Given the description of an element on the screen output the (x, y) to click on. 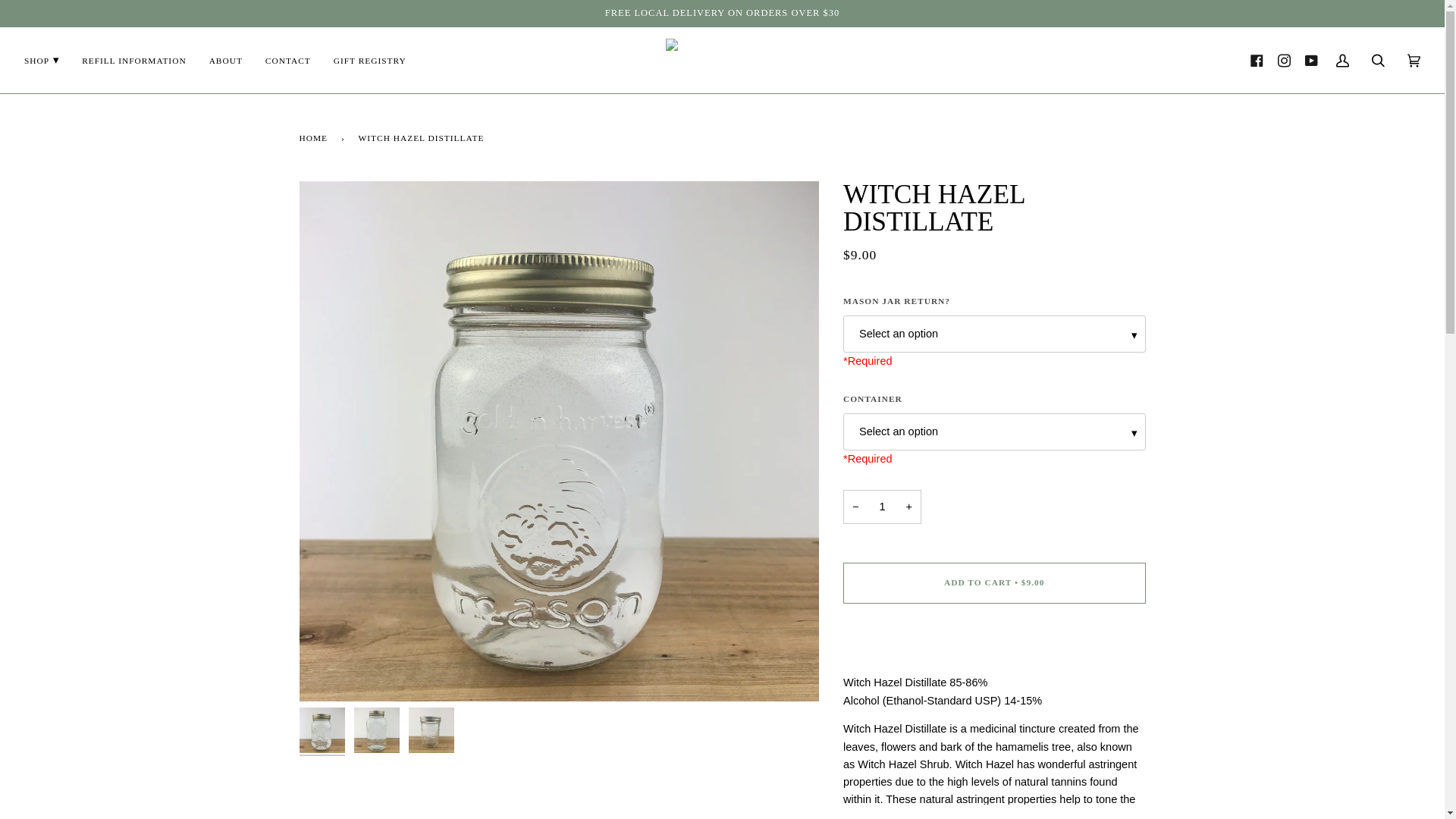
REFILL INFORMATION (133, 60)
GIFT REGISTRY (369, 60)
1 (882, 506)
Back to the frontpage (315, 137)
YouTube (1311, 60)
CONTACT (287, 60)
INSTAGRAM (1283, 60)
YOUTUBE (1311, 60)
Instagram (1283, 60)
FACEBOOK (1256, 60)
